Given the description of an element on the screen output the (x, y) to click on. 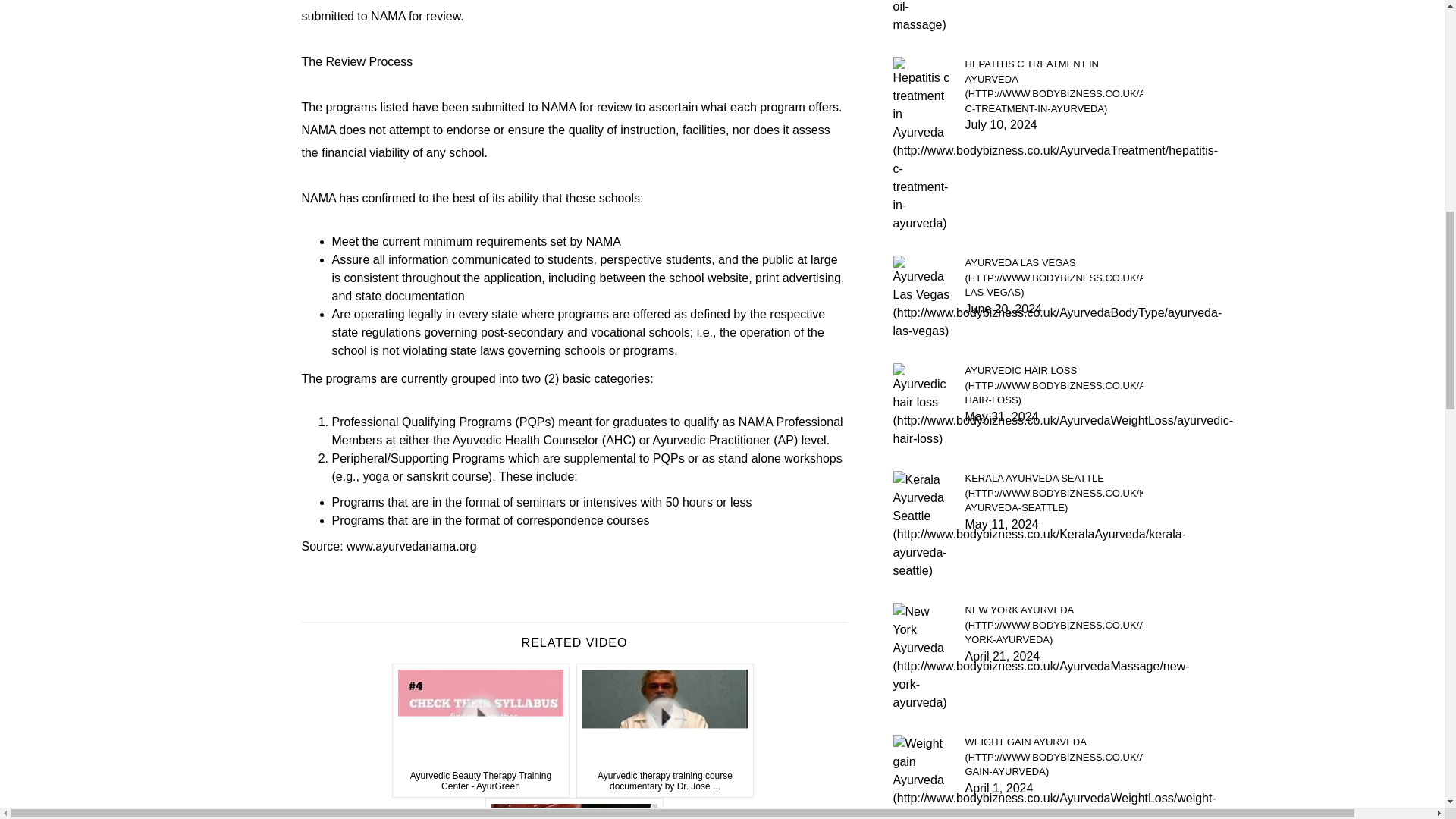
AYURVEDA LAS VEGAS (1052, 277)
View this video from YouTube (573, 808)
KERALA AYURVEDA SEATTLE (1052, 492)
AYURVEDIC HAIR LOSS (1052, 385)
WEIGHT GAIN AYURVEDA (1052, 756)
HEPATITIS C TREATMENT IN AYURVEDA (1052, 86)
View this video from YouTube (480, 730)
NEW YORK AYURVEDA (1052, 624)
View this video from YouTube (665, 730)
